Given the description of an element on the screen output the (x, y) to click on. 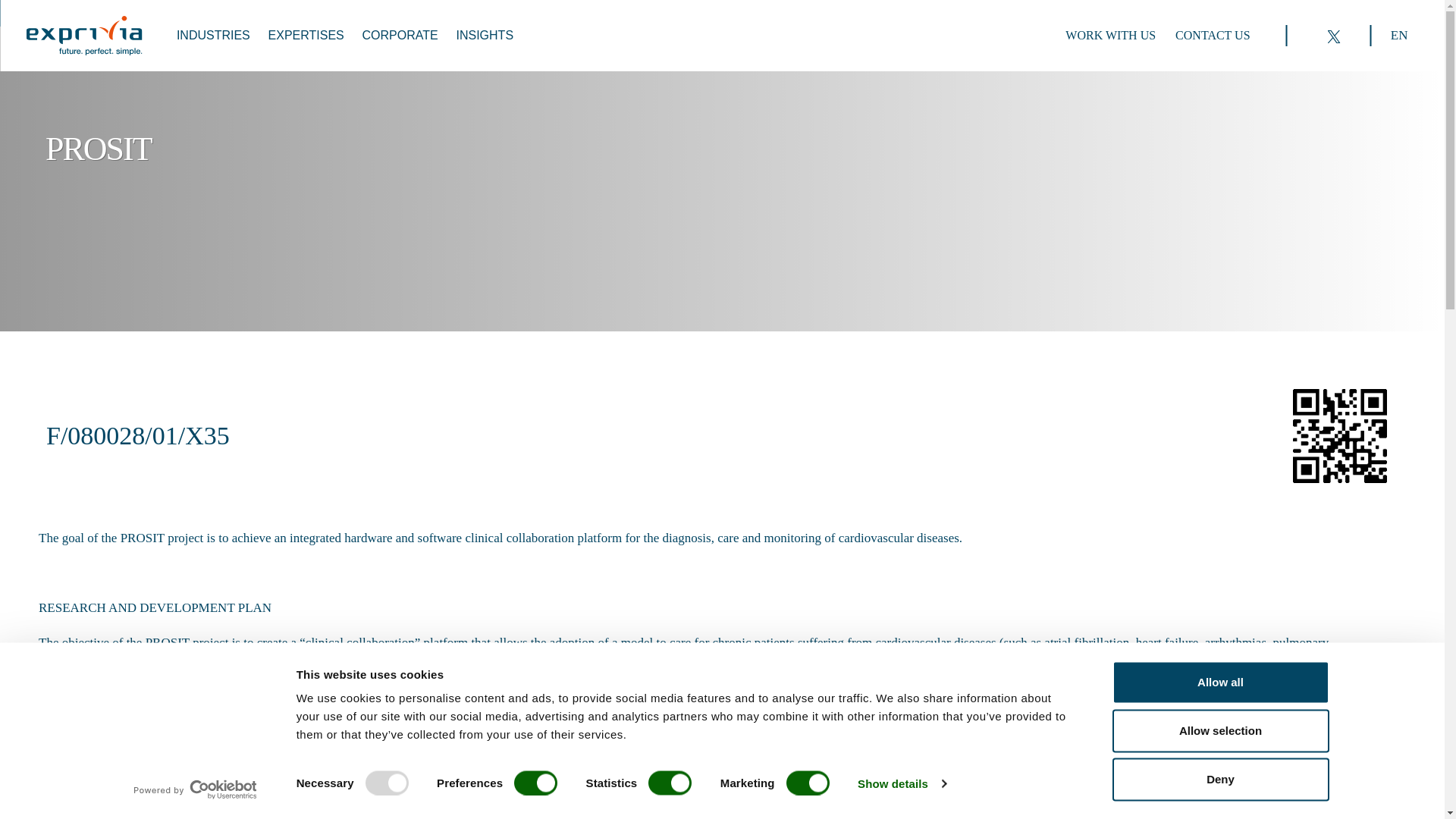
Allow all (1219, 682)
Allow selection (1219, 731)
Deny (1219, 779)
Show details (900, 783)
